Given the description of an element on the screen output the (x, y) to click on. 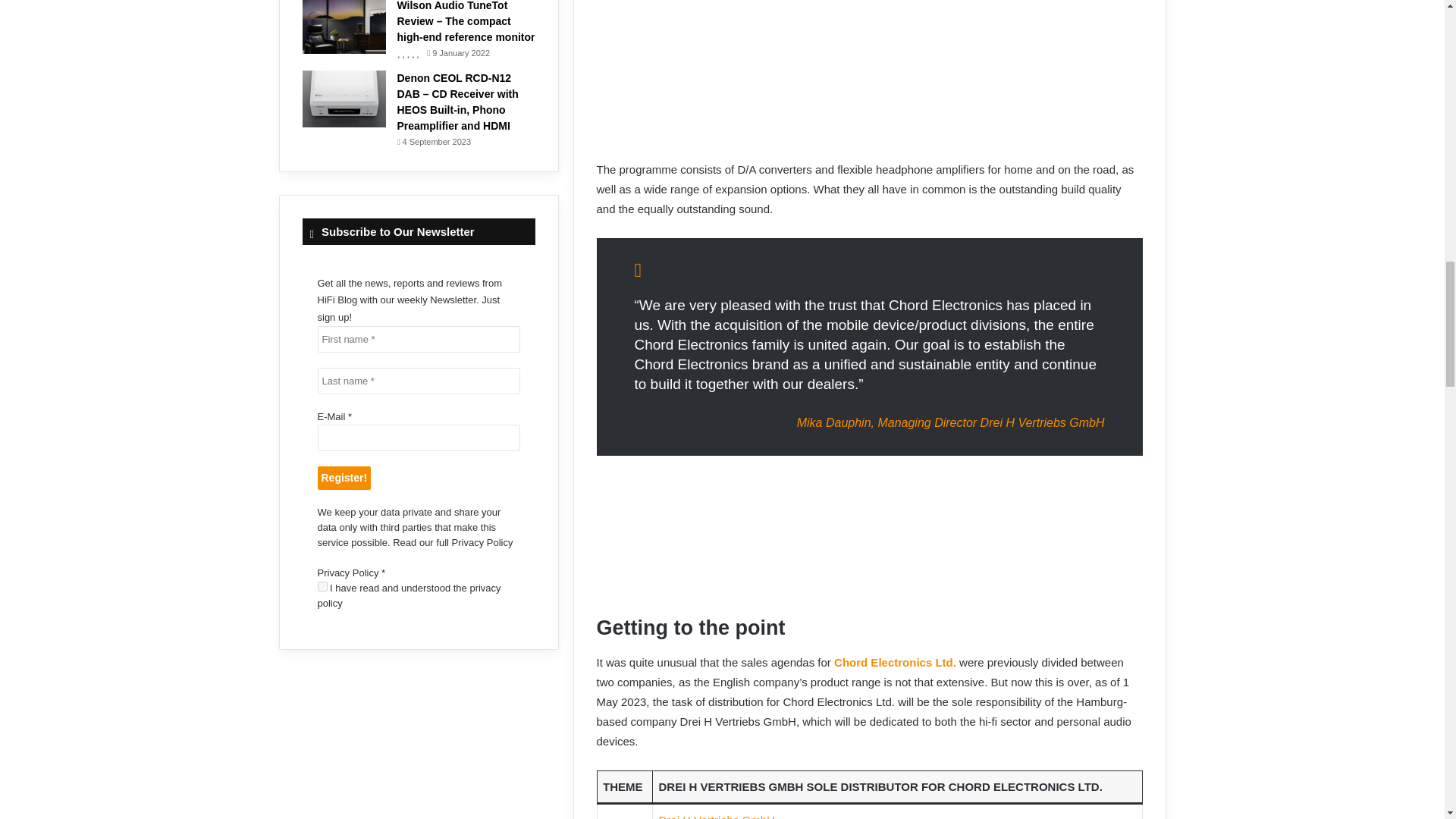
Register! (344, 477)
1 (321, 586)
